Given the description of an element on the screen output the (x, y) to click on. 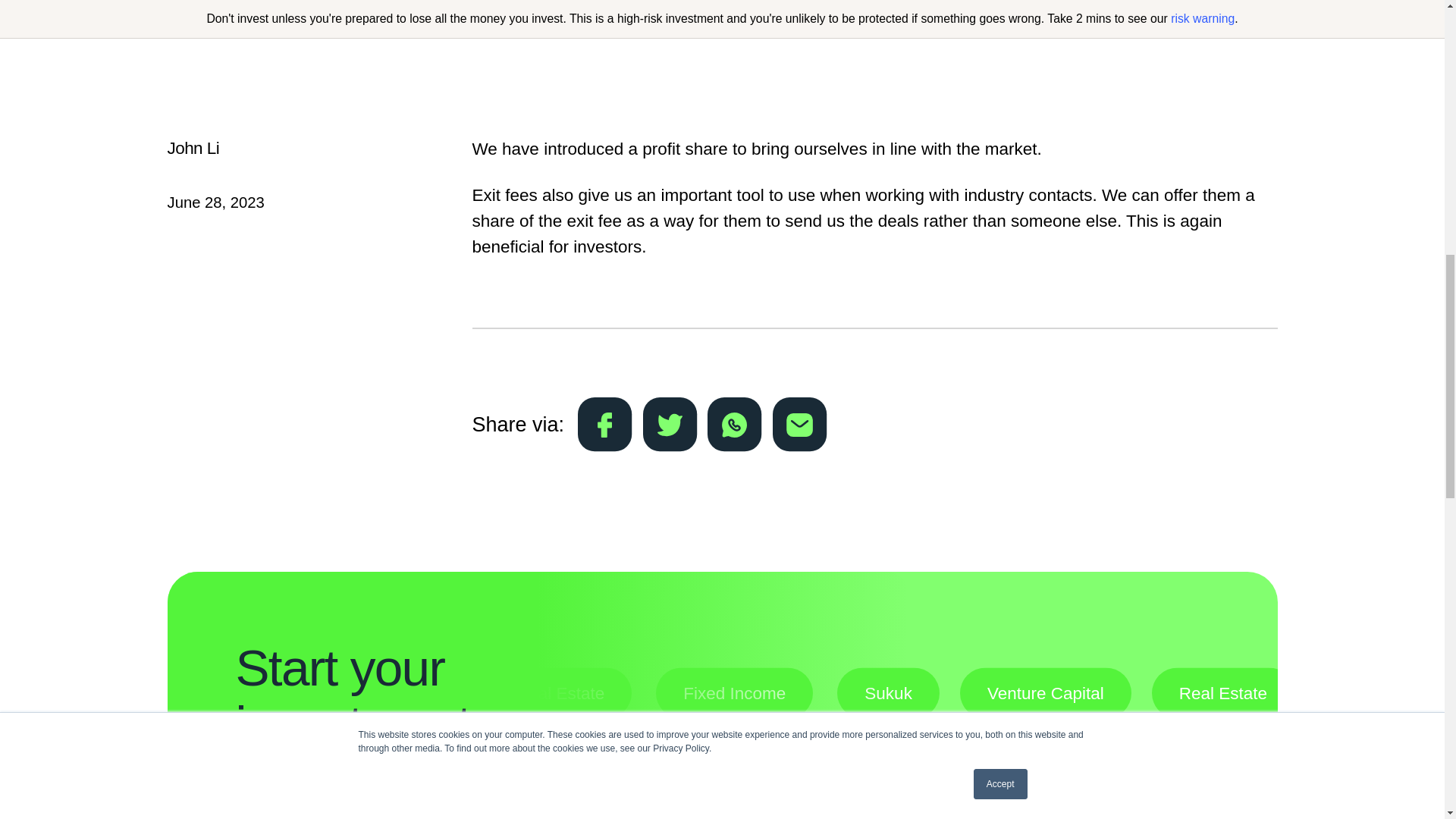
Send Whatsapp (734, 424)
Tweet (670, 424)
Share on Facebook (604, 424)
Send email (800, 424)
